Given the description of an element on the screen output the (x, y) to click on. 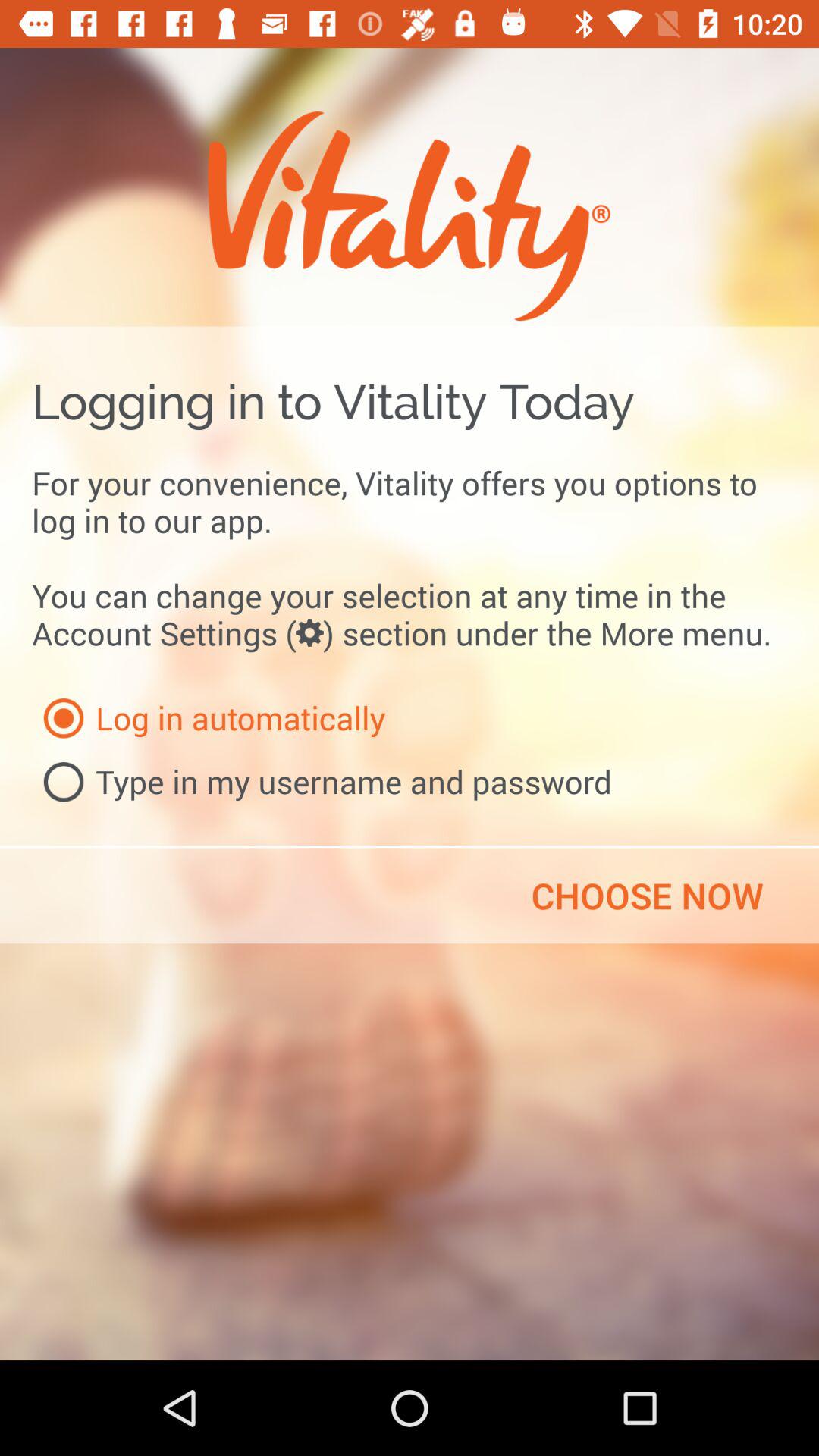
flip to the choose now item (647, 895)
